Given the description of an element on the screen output the (x, y) to click on. 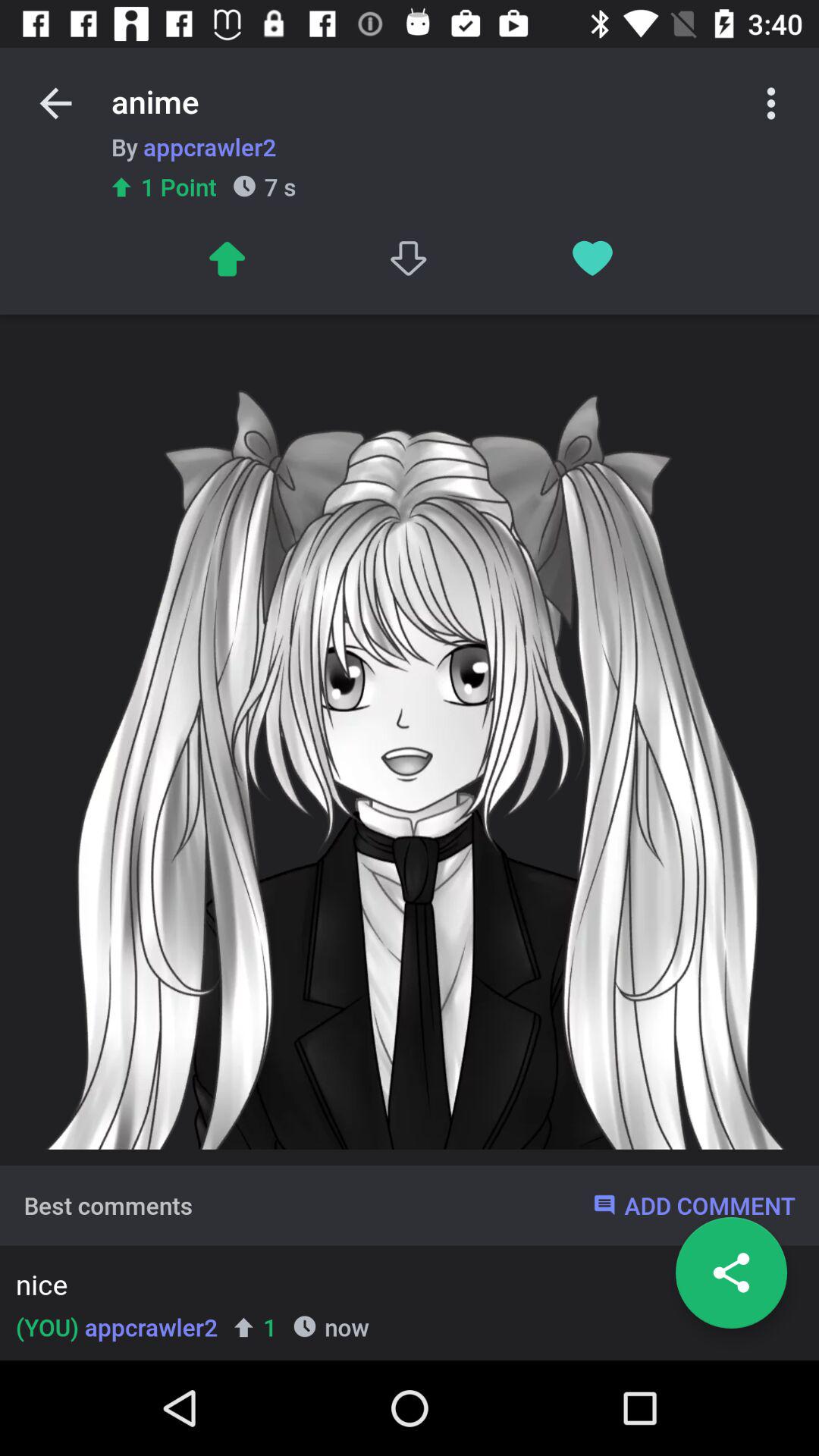
moves my screen to another image (226, 258)
